Given the description of an element on the screen output the (x, y) to click on. 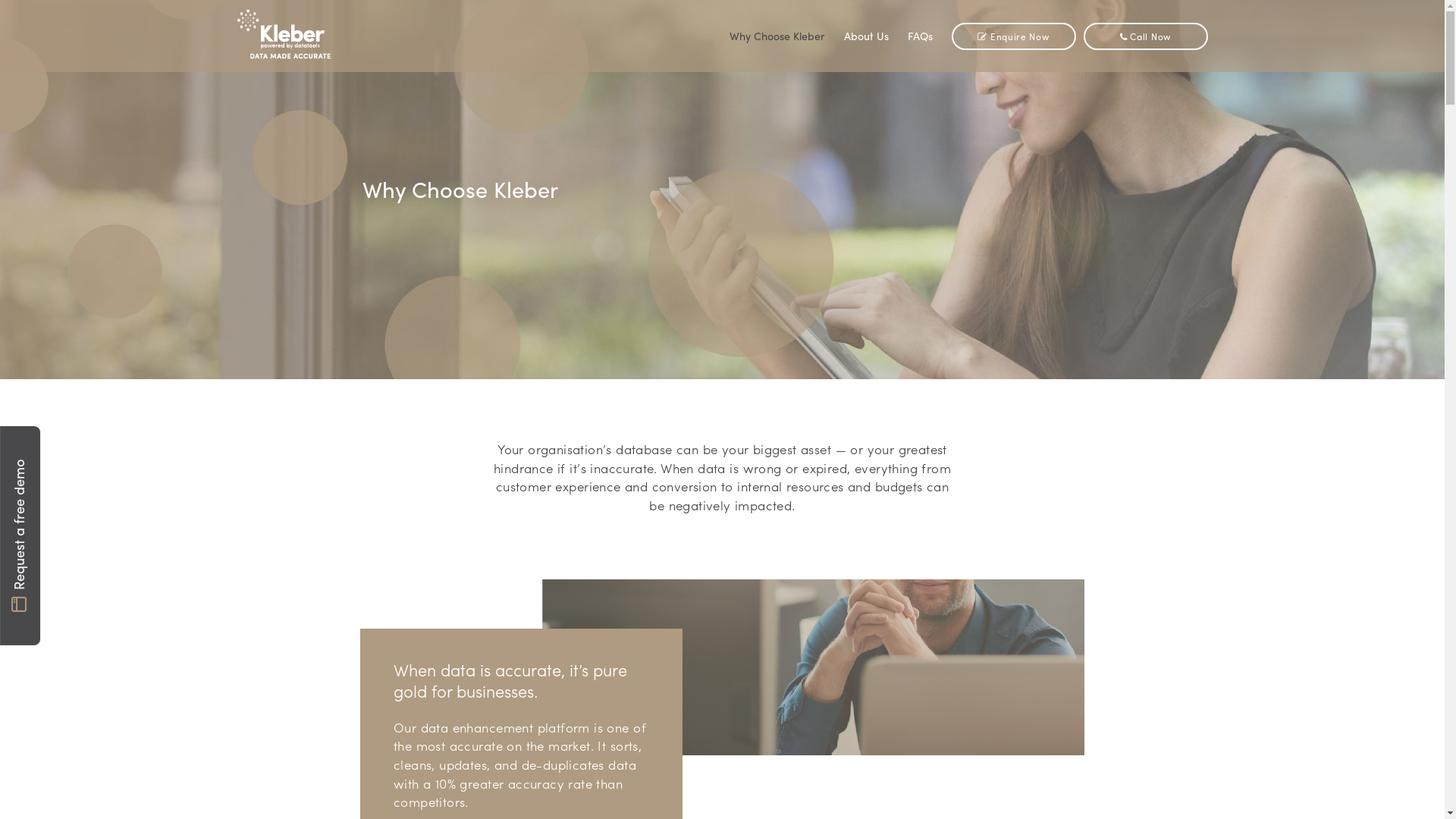
Why Choose Kleber Element type: text (777, 36)
About Us Element type: text (865, 36)
Request a free demo Element type: text (109, 446)
FAQs Element type: text (918, 36)
Call Now Element type: text (1144, 36)
Enquire Now Element type: text (1012, 36)
